Given the description of an element on the screen output the (x, y) to click on. 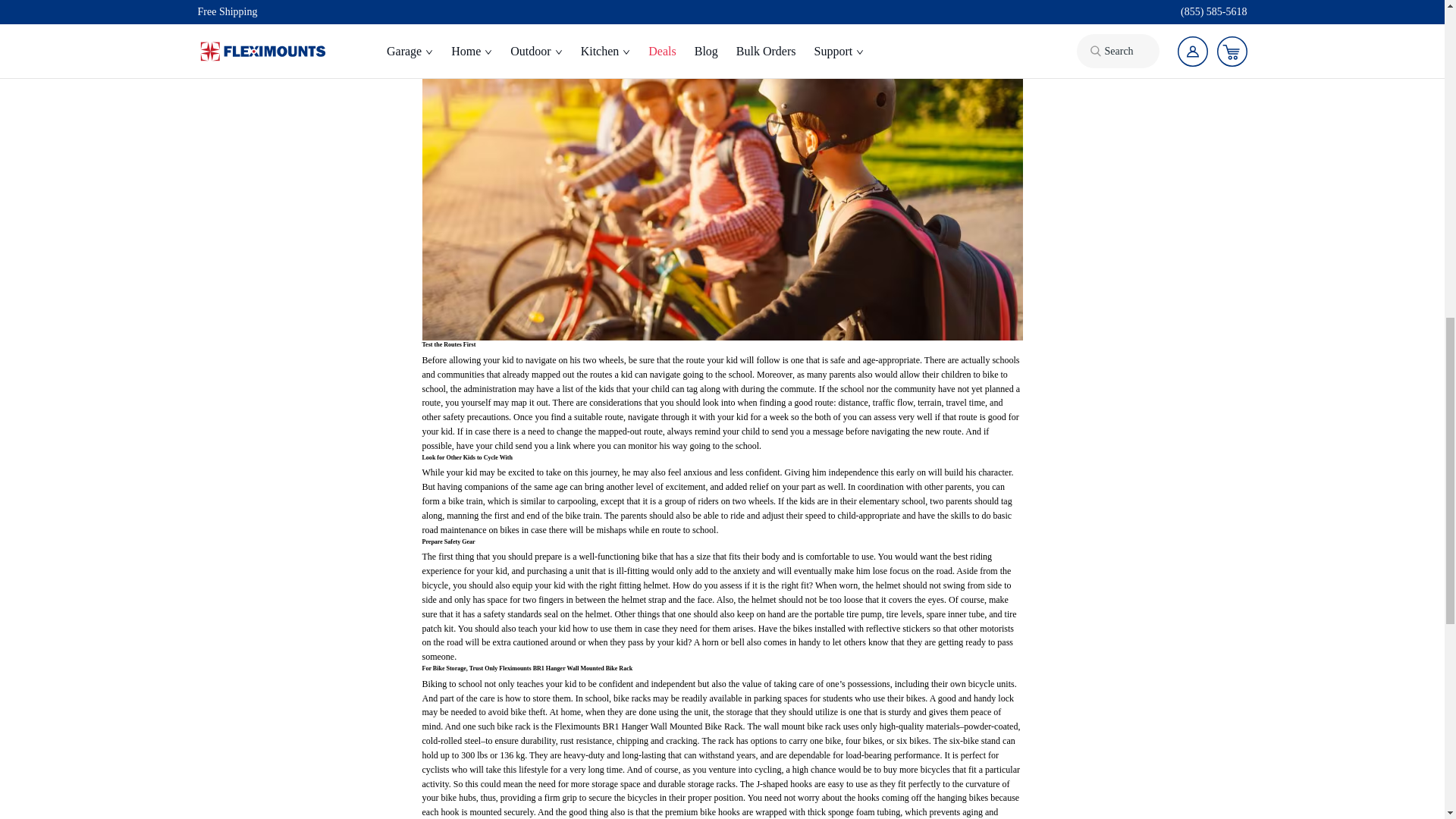
Fleximounts BR1 Hanger Wall Mounted Bike Rack (565, 668)
